Given the description of an element on the screen output the (x, y) to click on. 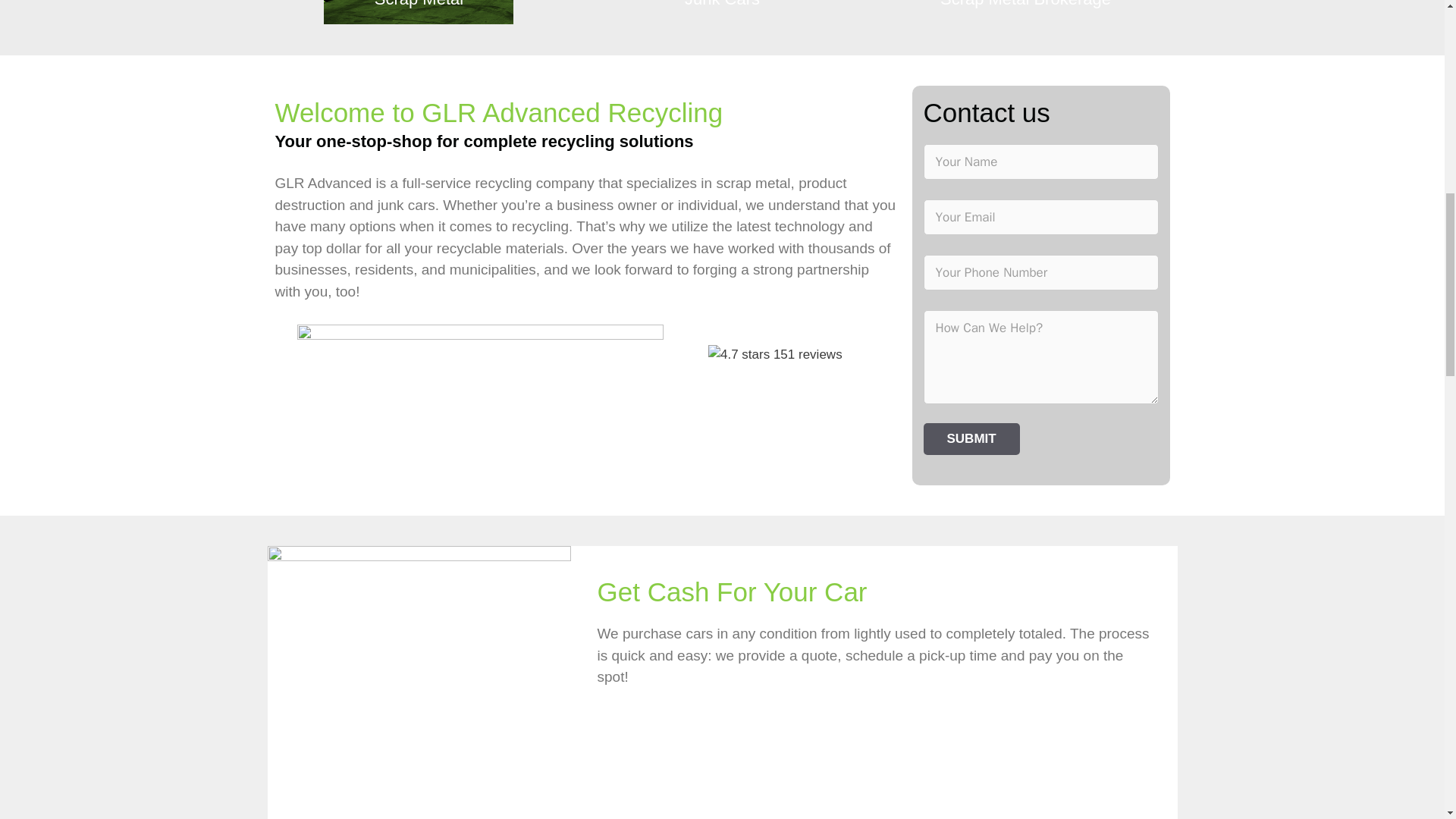
Scrap Metal (418, 12)
Submit (971, 439)
Scrap Metal Brokerage (1024, 12)
Submit (971, 439)
Junk Cars (721, 12)
